Given the description of an element on the screen output the (x, y) to click on. 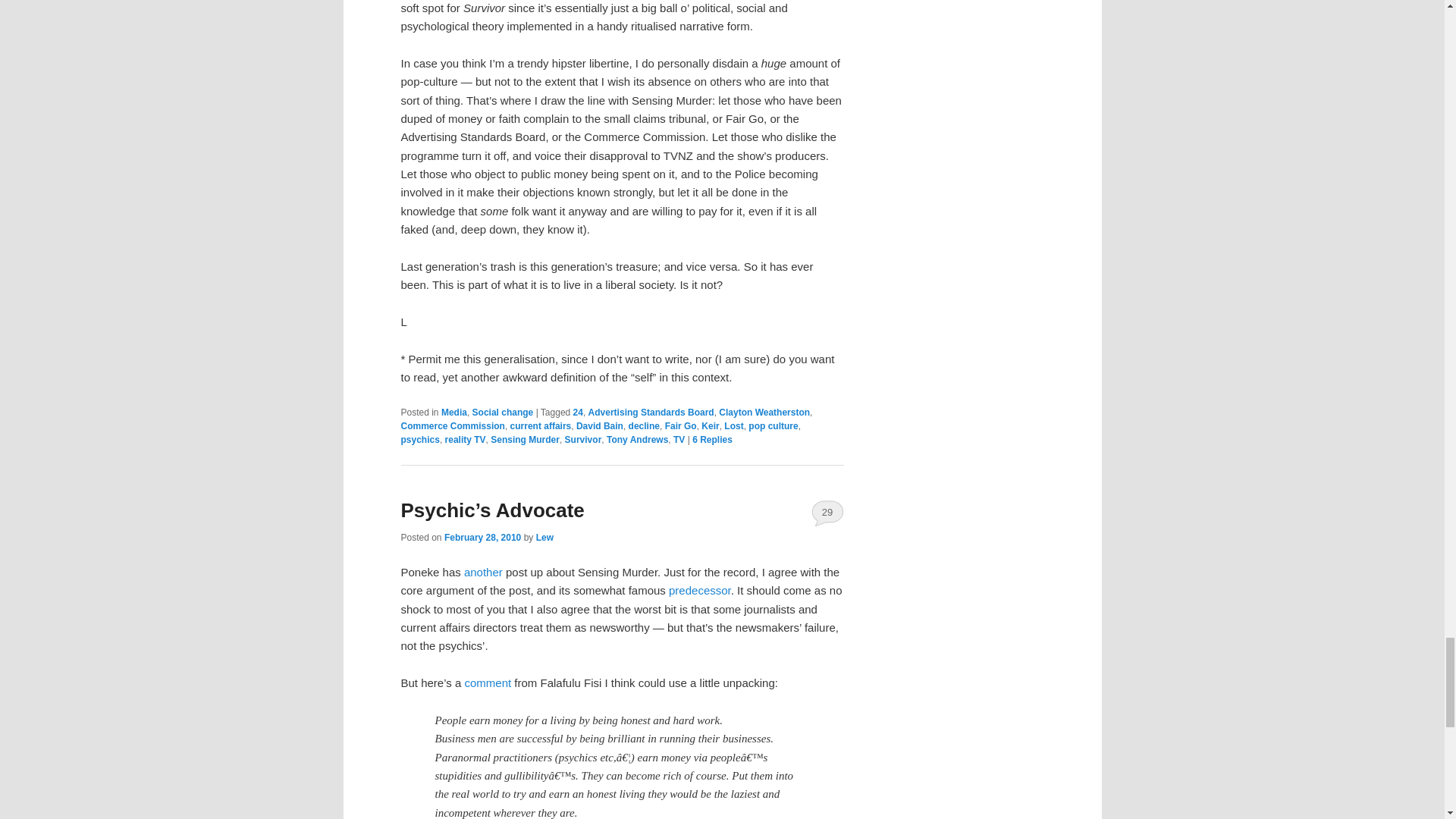
View all posts by Lew (544, 537)
14:32 (482, 537)
